Given the description of an element on the screen output the (x, y) to click on. 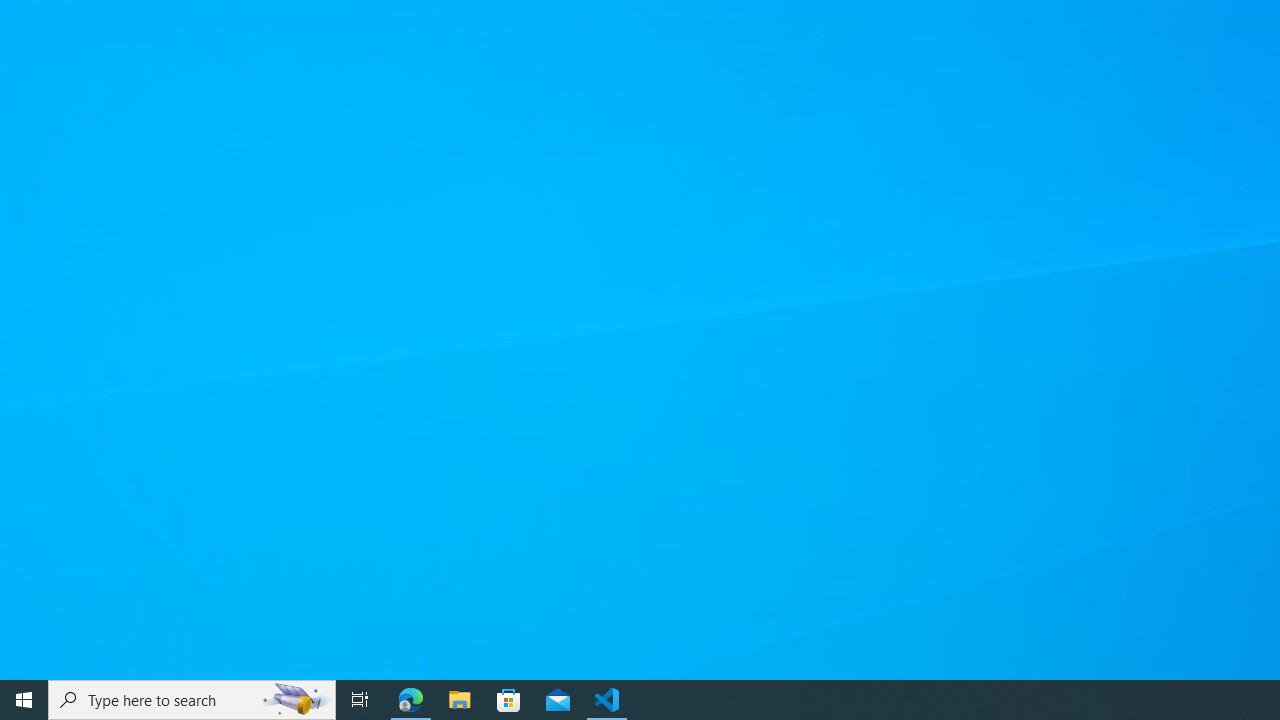
Microsoft Edge - 1 running window (411, 699)
